Given the description of an element on the screen output the (x, y) to click on. 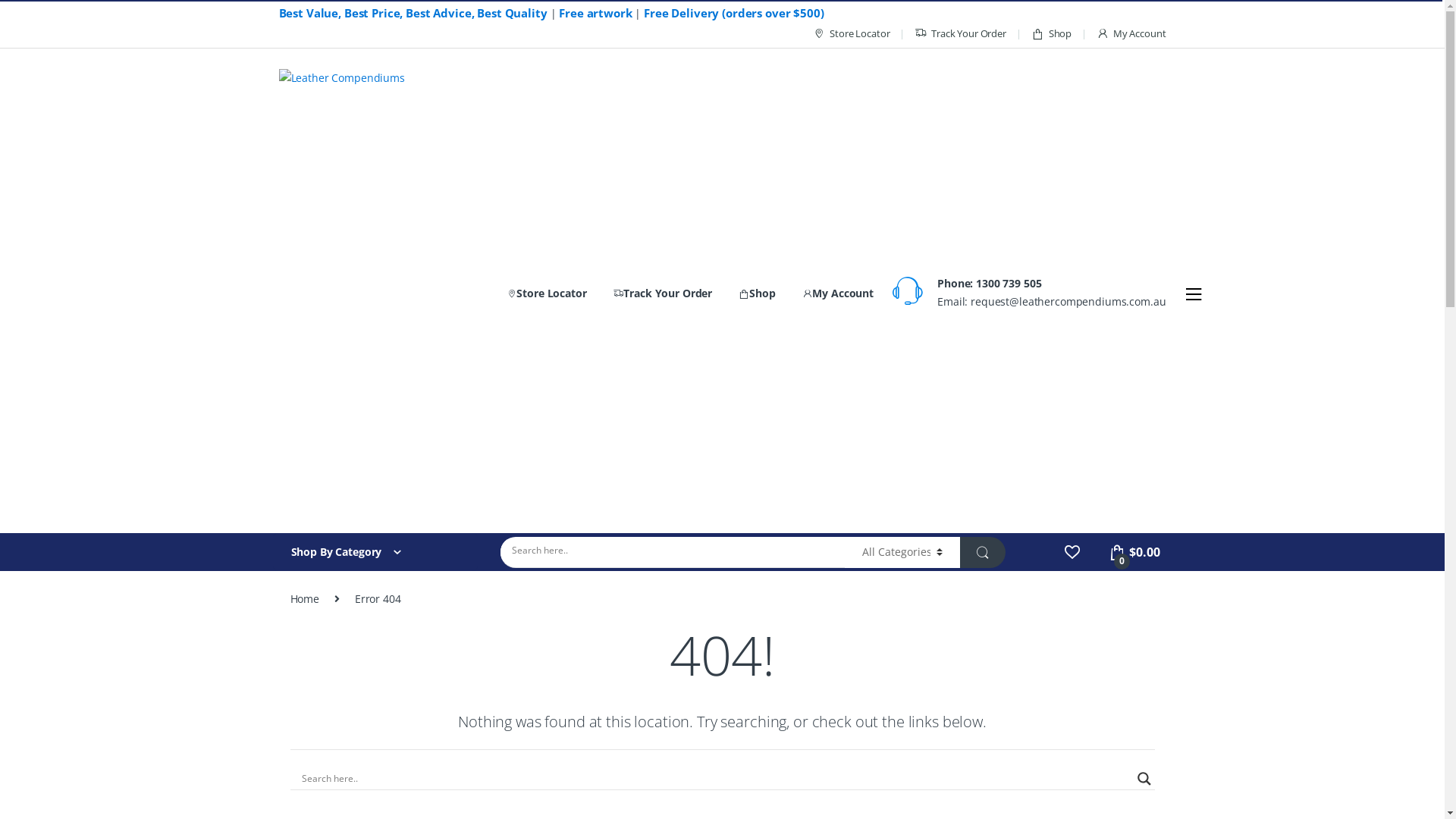
Store Locator Element type: text (850, 34)
Shop Element type: text (1051, 34)
My Account Element type: text (1130, 34)
Store Locator Element type: text (546, 293)
0
$0.00 Element type: text (1133, 551)
Track Your Order Element type: text (960, 34)
Track Your Order Element type: text (662, 293)
request@leathercompendiums.com.au Element type: text (1067, 301)
Shop Element type: text (756, 293)
Best Value, Best Price, Best Advice, Best Quality Element type: text (413, 12)
Free artwork Element type: text (594, 12)
Free Delivery (orders over $500) Element type: text (733, 12)
Home Element type: text (303, 598)
Shop By Category Element type: text (375, 552)
My Account Element type: text (837, 293)
